Given the description of an element on the screen output the (x, y) to click on. 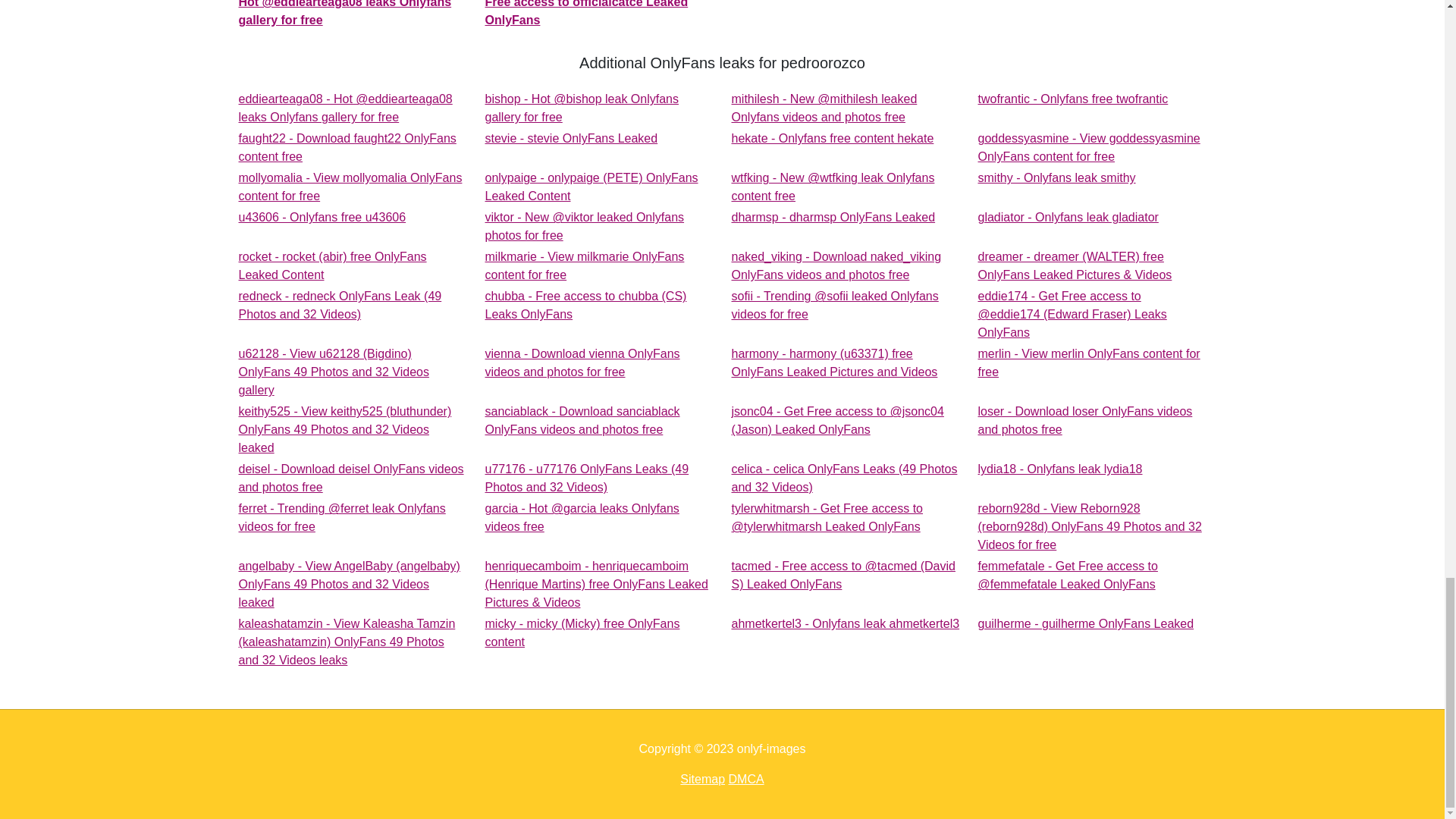
twofrantic - Onlyfans free twofrantic (1068, 216)
u43606 - Onlyfans free u43606 (1088, 146)
stevie - stevie OnlyFans Leaked (831, 137)
smithy - Onlyfans leak smithy (1073, 98)
faught22 - Download faught22 OnlyFans content free (322, 216)
